Given the description of an element on the screen output the (x, y) to click on. 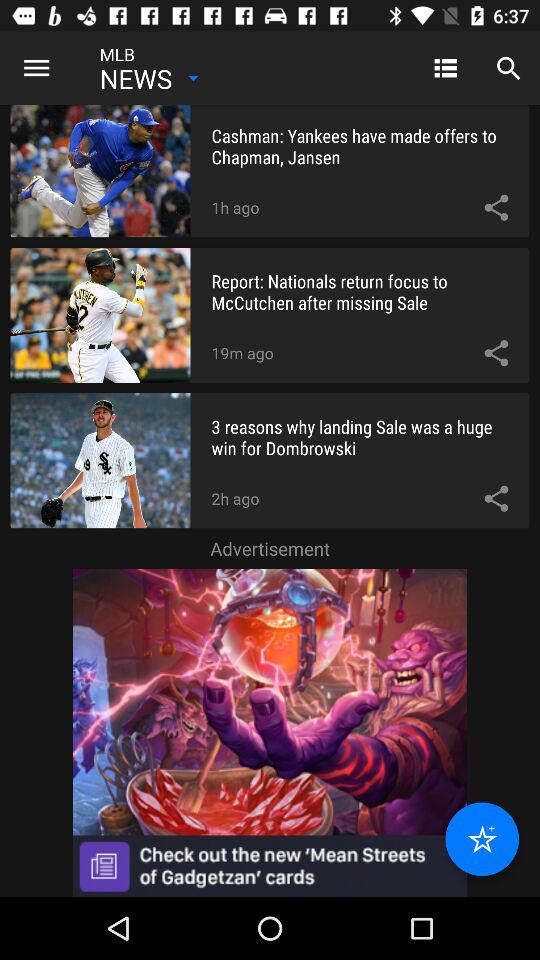
select ad5 (269, 732)
